Given the description of an element on the screen output the (x, y) to click on. 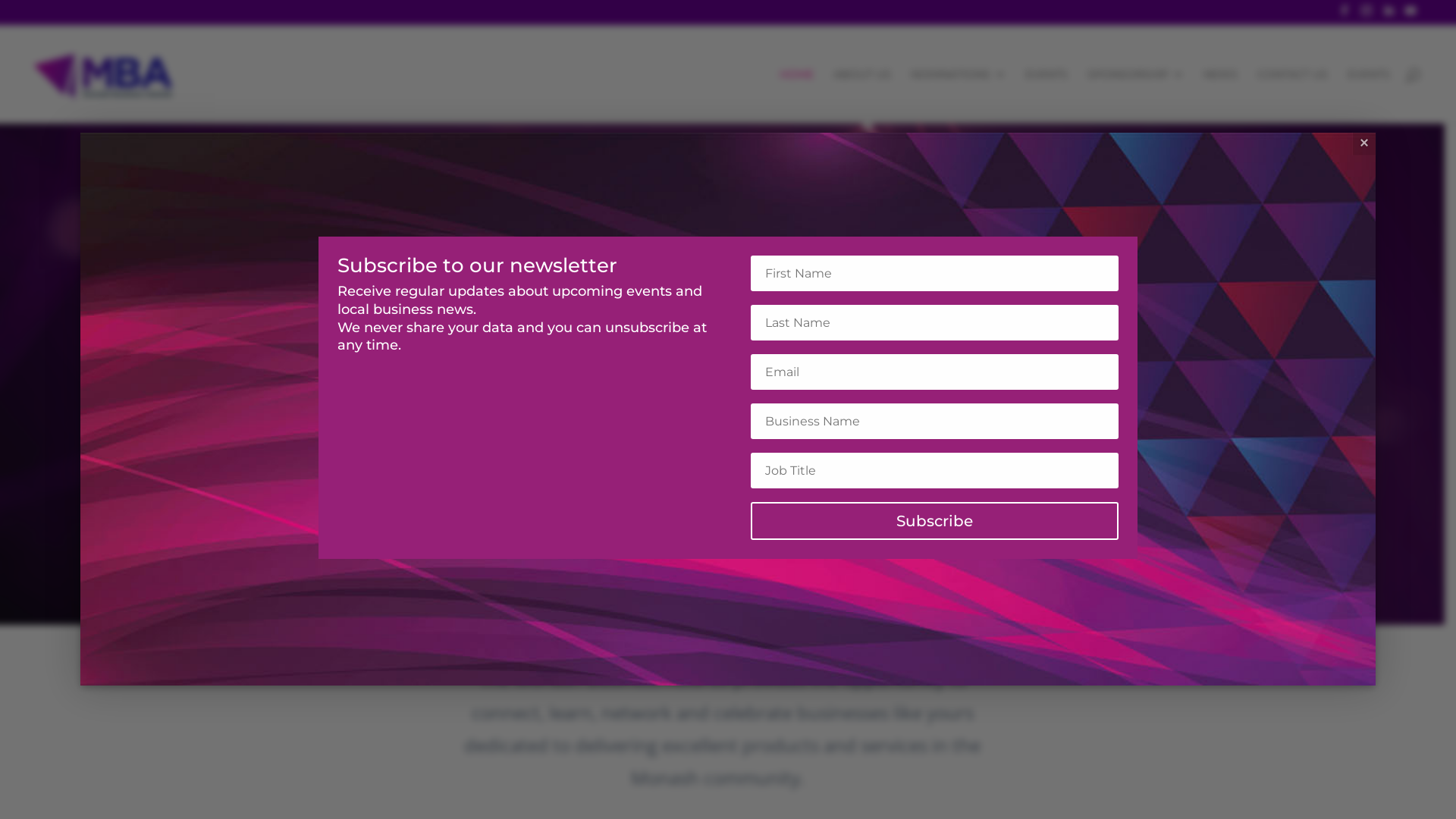
EVENTS Element type: text (1046, 95)
CONTACT US Element type: text (1292, 95)
3 Element type: text (728, 594)
NOMINATIONS Element type: text (957, 95)
NEWS Element type: text (1220, 95)
HOME Element type: text (796, 95)
Subscribe Element type: text (934, 520)
1 Element type: text (703, 594)
4 Element type: text (740, 594)
SPONSORSHIP Element type: text (1135, 95)
2 Element type: text (715, 594)
ABOUT US Element type: text (862, 95)
EVENTS Element type: text (1368, 95)
